Given the description of an element on the screen output the (x, y) to click on. 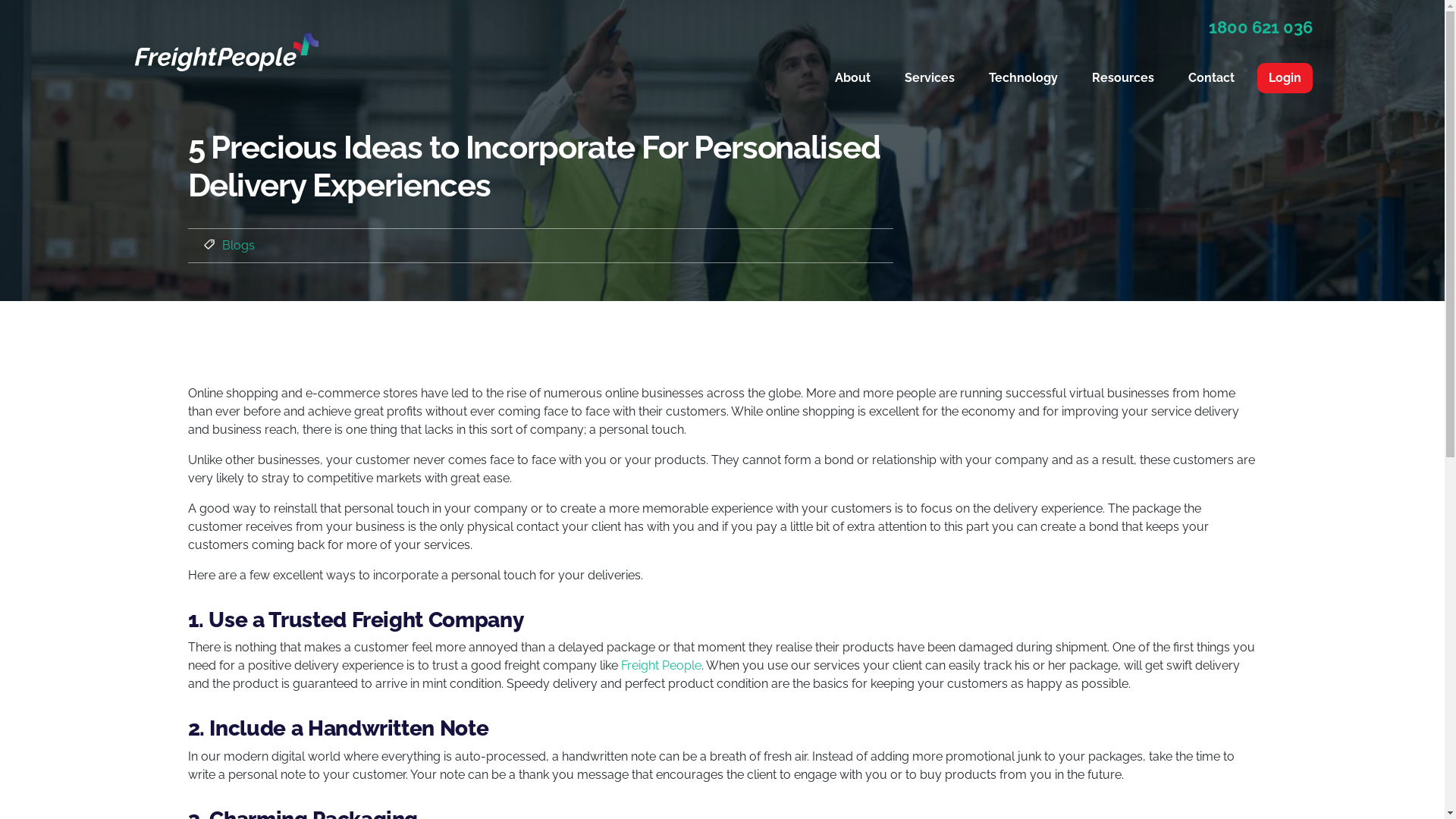
Services Element type: text (929, 78)
Blogs Element type: text (237, 245)
About Element type: text (852, 78)
1800 621 036 Element type: text (922, 27)
Freight People Element type: text (660, 665)
Login Element type: text (1284, 77)
Technology Element type: text (1023, 78)
Resources Element type: text (1122, 78)
Contact Element type: text (1210, 78)
